Given the description of an element on the screen output the (x, y) to click on. 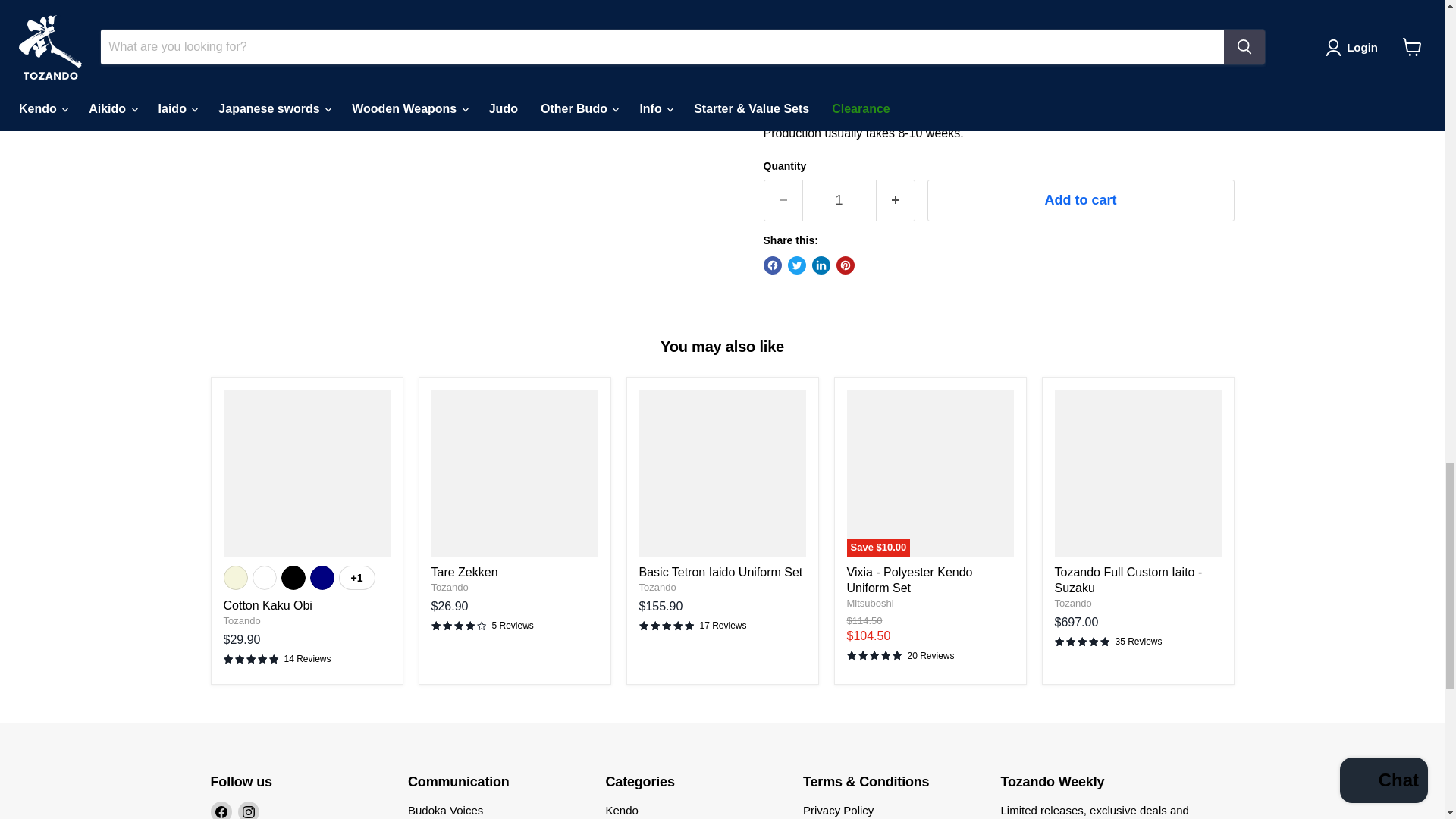
Tozando (241, 620)
Instagram (248, 810)
Tozando (657, 586)
Tozando (1072, 603)
Tozando (448, 586)
on (770, 70)
Facebook (221, 810)
1 (839, 200)
Mitsuboshi (869, 603)
